Given the description of an element on the screen output the (x, y) to click on. 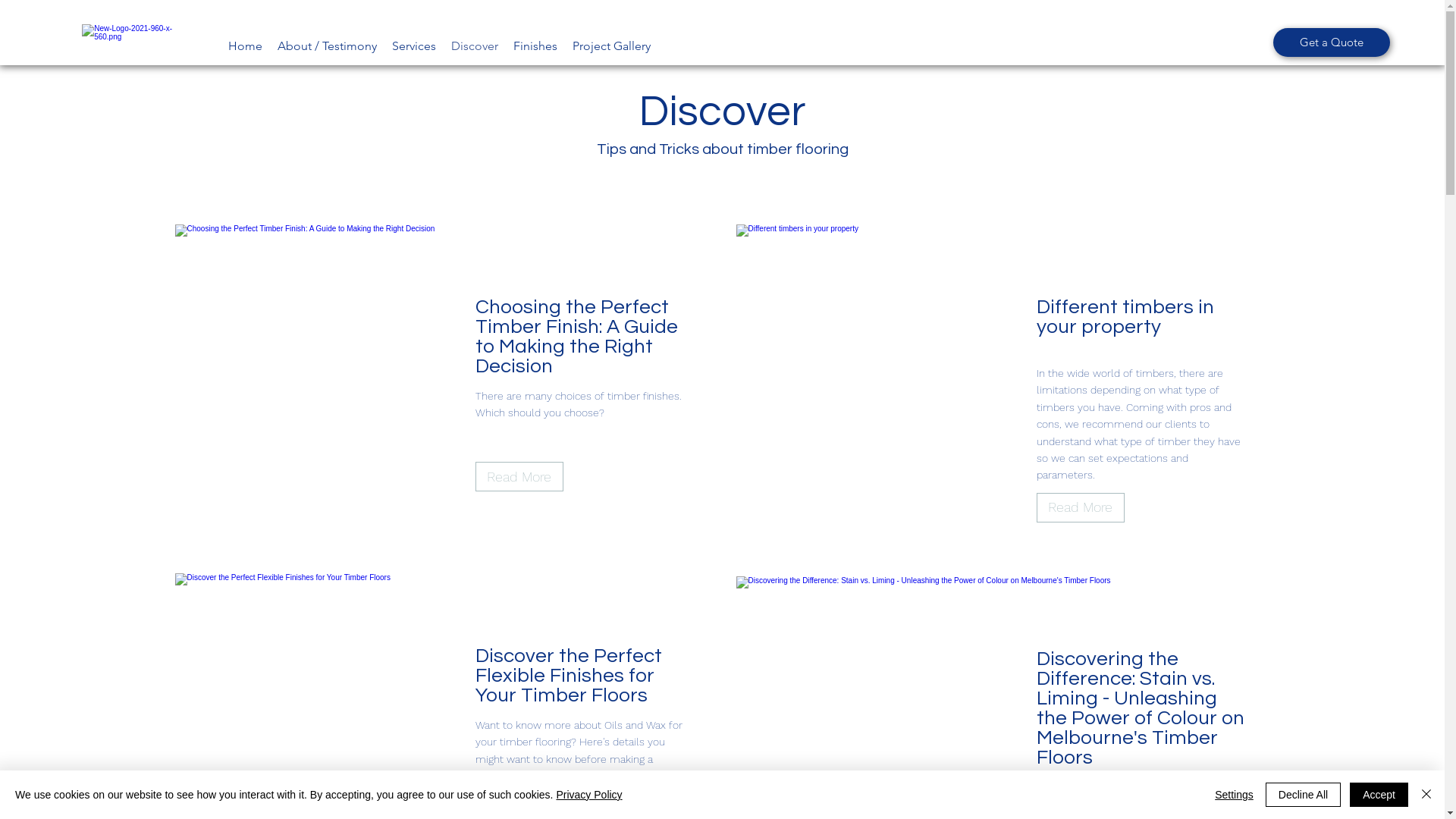
Services Element type: text (413, 45)
Discover Element type: text (474, 45)
Read More Element type: text (518, 476)
Finishes Element type: text (534, 45)
Home Element type: text (244, 45)
Accept Element type: text (1378, 794)
About / Testimony Element type: text (326, 45)
Get a Quote Element type: text (1331, 42)
Project Gallery Element type: text (611, 45)
Read More Element type: text (1079, 507)
IMG_0559.jpeg Element type: hover (377, 385)
Decline All Element type: text (1302, 794)
Privacy Policy Element type: text (588, 794)
35.jpg Element type: hover (938, 385)
